Given the description of an element on the screen output the (x, y) to click on. 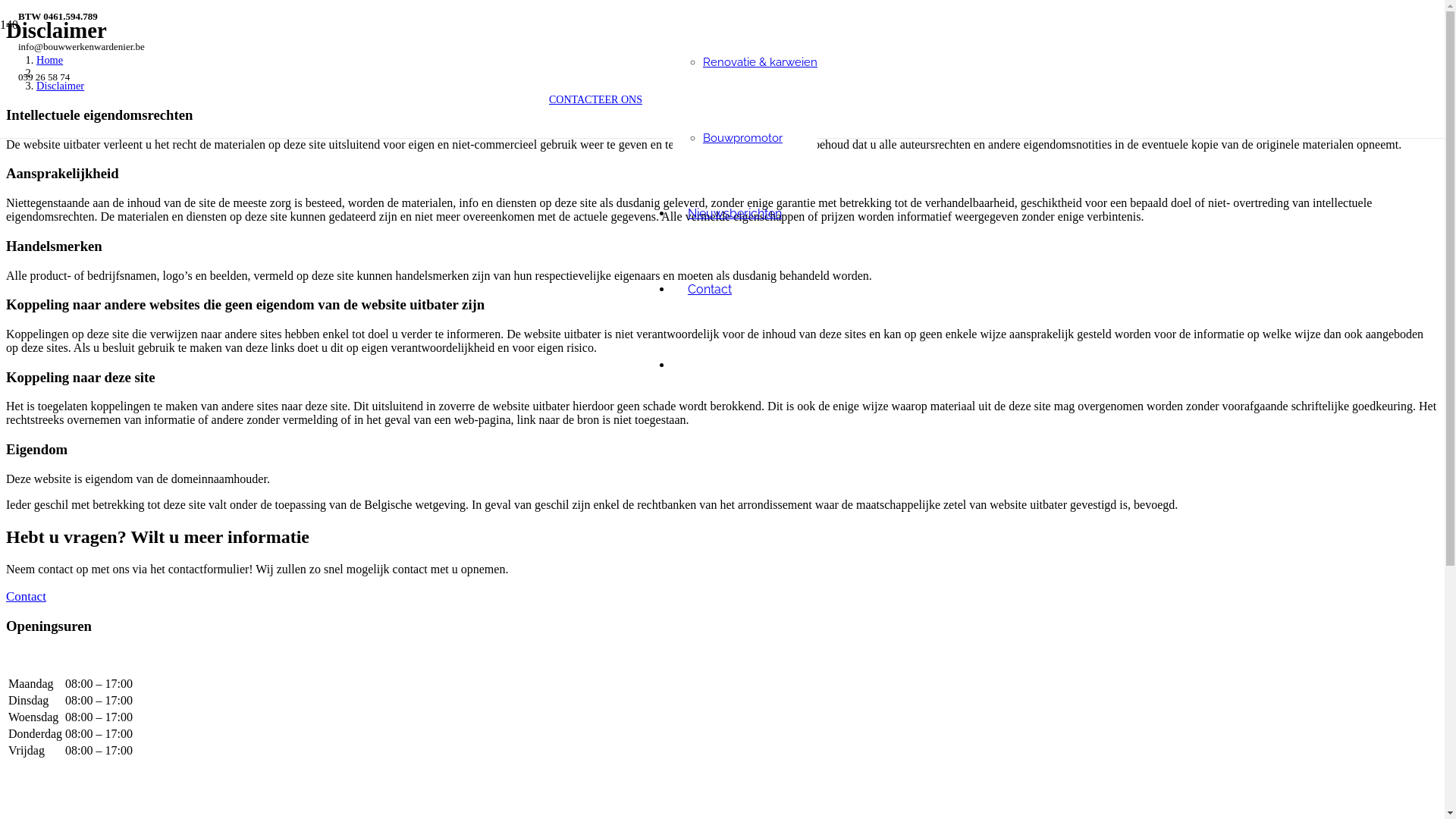
Contact Element type: text (26, 596)
Renovatie & karweien Element type: text (759, 62)
Nieuwsberichten Element type: text (734, 213)
Disclaimer Element type: text (60, 85)
CONTACTEER ONS Element type: text (595, 99)
Bouwpromotor Element type: text (742, 137)
Contact Element type: text (709, 289)
Home Element type: text (49, 59)
